Given the description of an element on the screen output the (x, y) to click on. 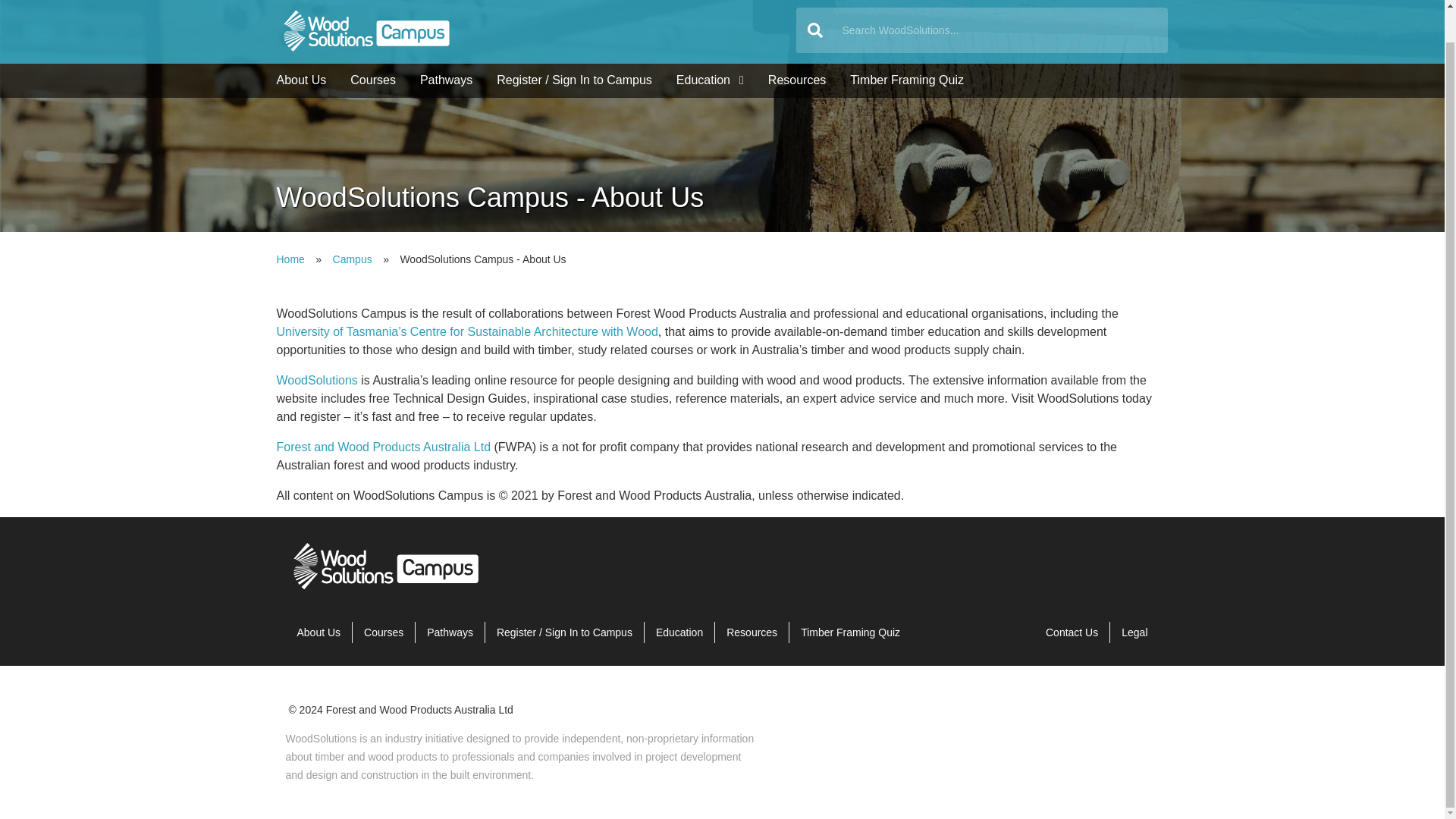
Home (536, 31)
Timber Framing Tutorial (906, 80)
Pathways (445, 80)
Resources (751, 631)
Search (815, 30)
About Us (301, 80)
WoodSolutions (316, 379)
Education (710, 80)
Home (387, 590)
Contact Us (1071, 631)
Home (290, 259)
Campus (352, 259)
Legal (1133, 631)
